Given the description of an element on the screen output the (x, y) to click on. 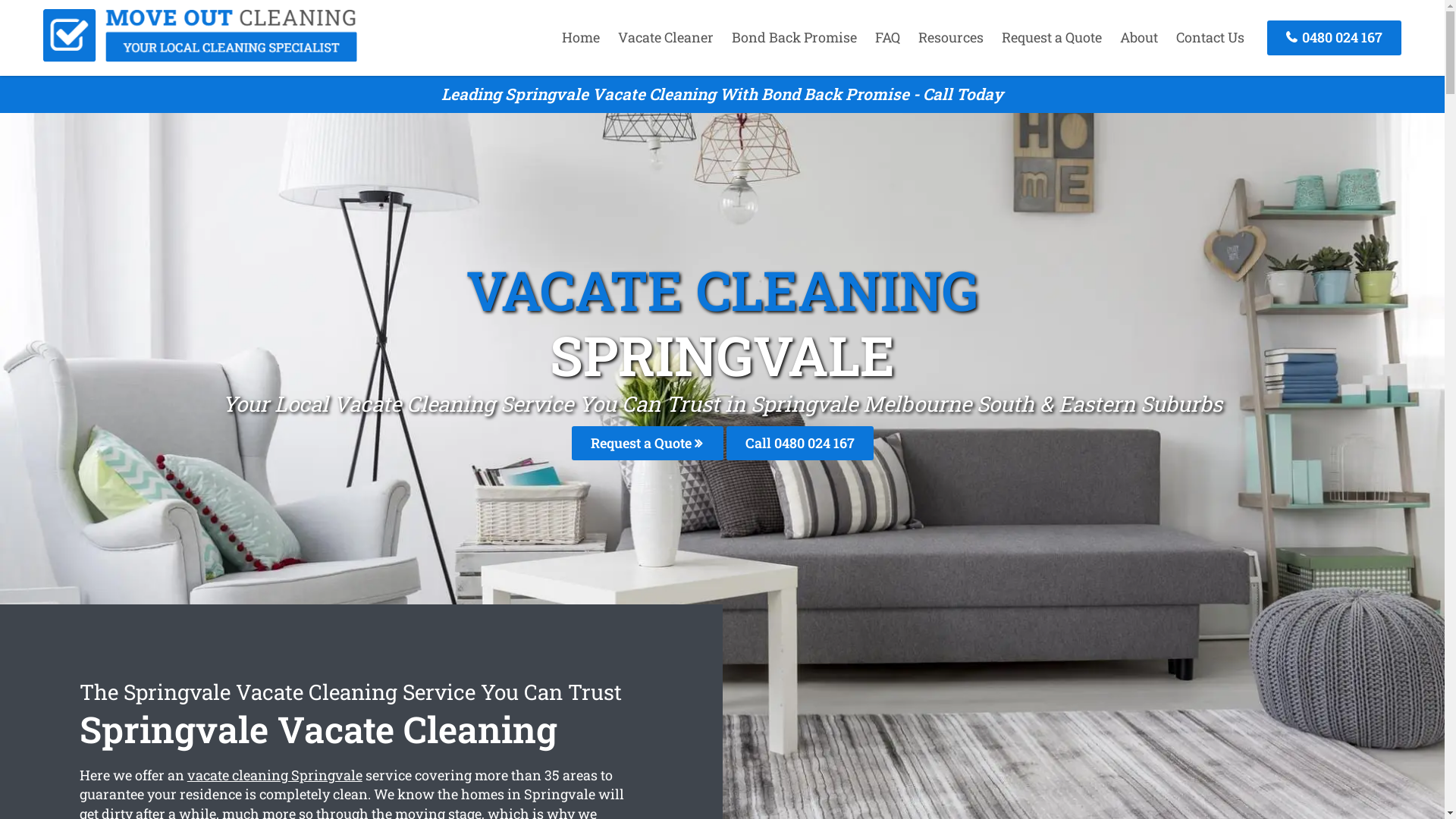
Request a Quote Element type: text (647, 443)
Home Element type: text (580, 37)
Vacate Cleaner Element type: text (665, 37)
vacate cleaning Springvale Element type: text (274, 774)
End of Lease Cleaning Element type: hover (200, 56)
0480 024 167 Element type: text (1334, 37)
Contact Us Element type: text (1210, 37)
Request a Quote Element type: text (1051, 37)
Resources Element type: text (950, 37)
FAQ Element type: text (887, 37)
Call 0480 024 167 Element type: text (799, 443)
About Element type: text (1138, 37)
Bond Back Promise Element type: text (794, 37)
